Given the description of an element on the screen output the (x, y) to click on. 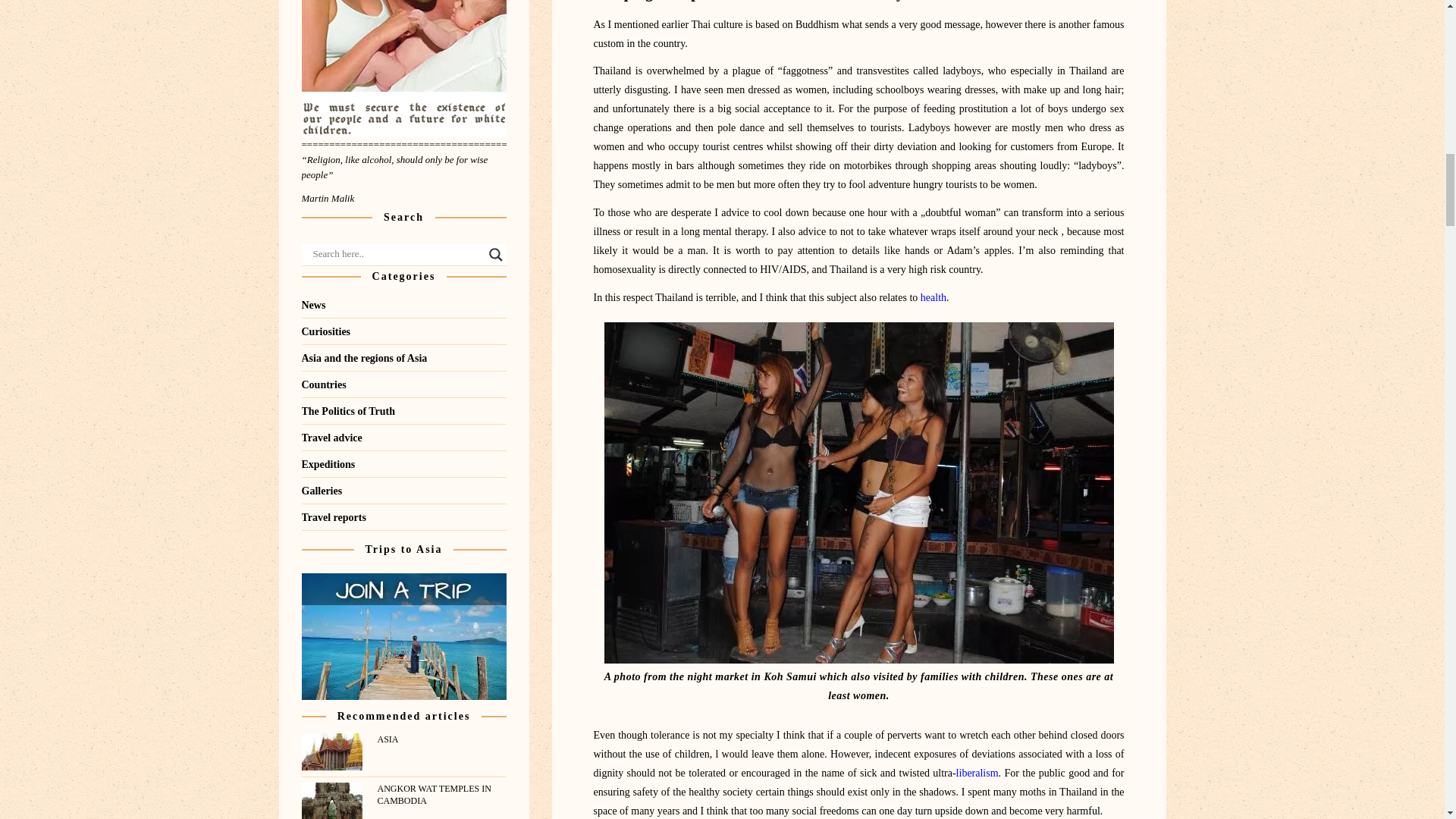
Asia (441, 739)
Angkor Wat temples in Cambodia (441, 794)
